Given the description of an element on the screen output the (x, y) to click on. 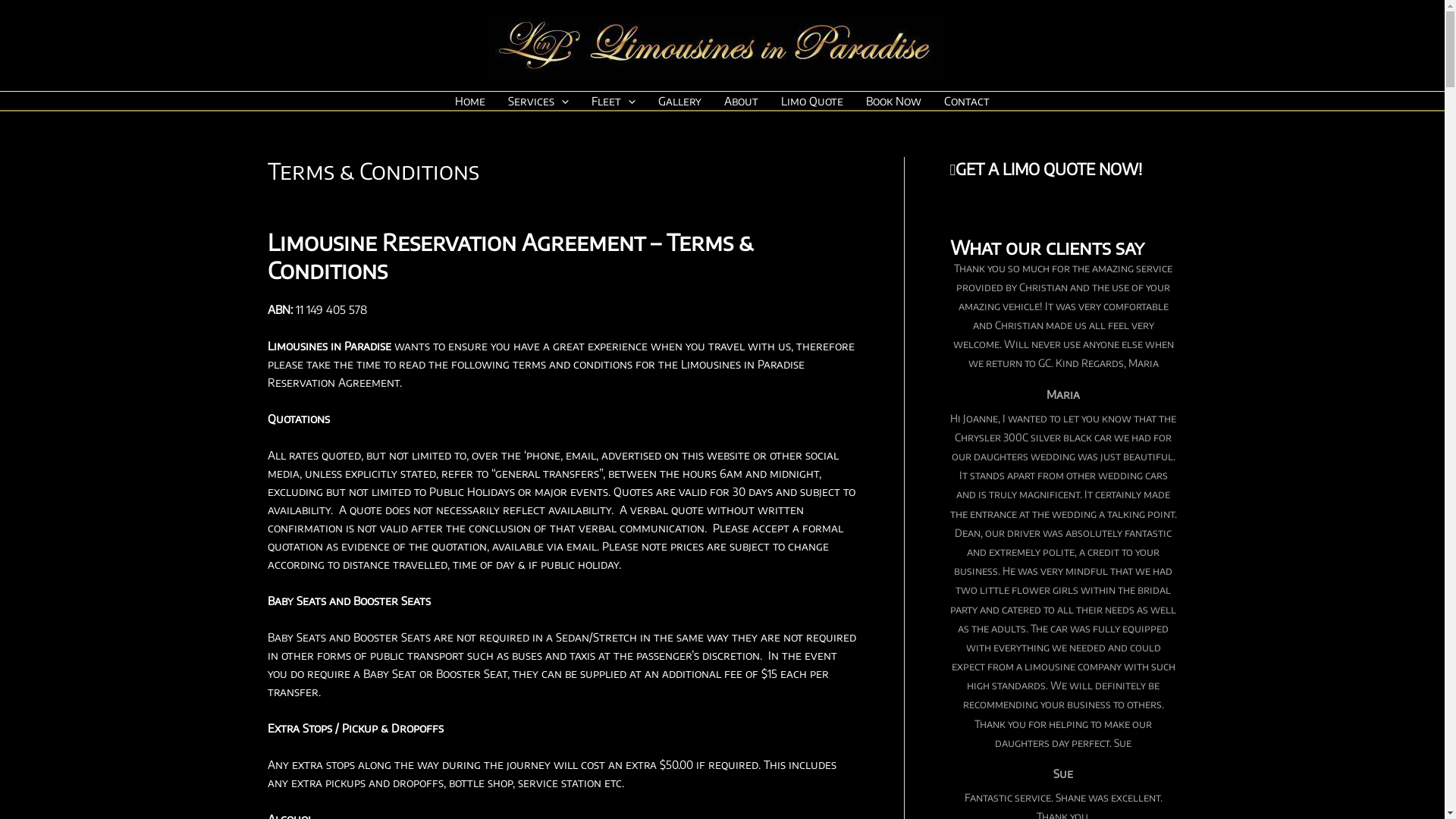
Contact Element type: text (966, 100)
Services Element type: text (538, 100)
Book Now Element type: text (893, 100)
Fleet Element type: text (613, 100)
Limo Quote Element type: text (811, 100)
About Element type: text (740, 100)
Home Element type: text (469, 100)
Gallery Element type: text (679, 100)
